Given the description of an element on the screen output the (x, y) to click on. 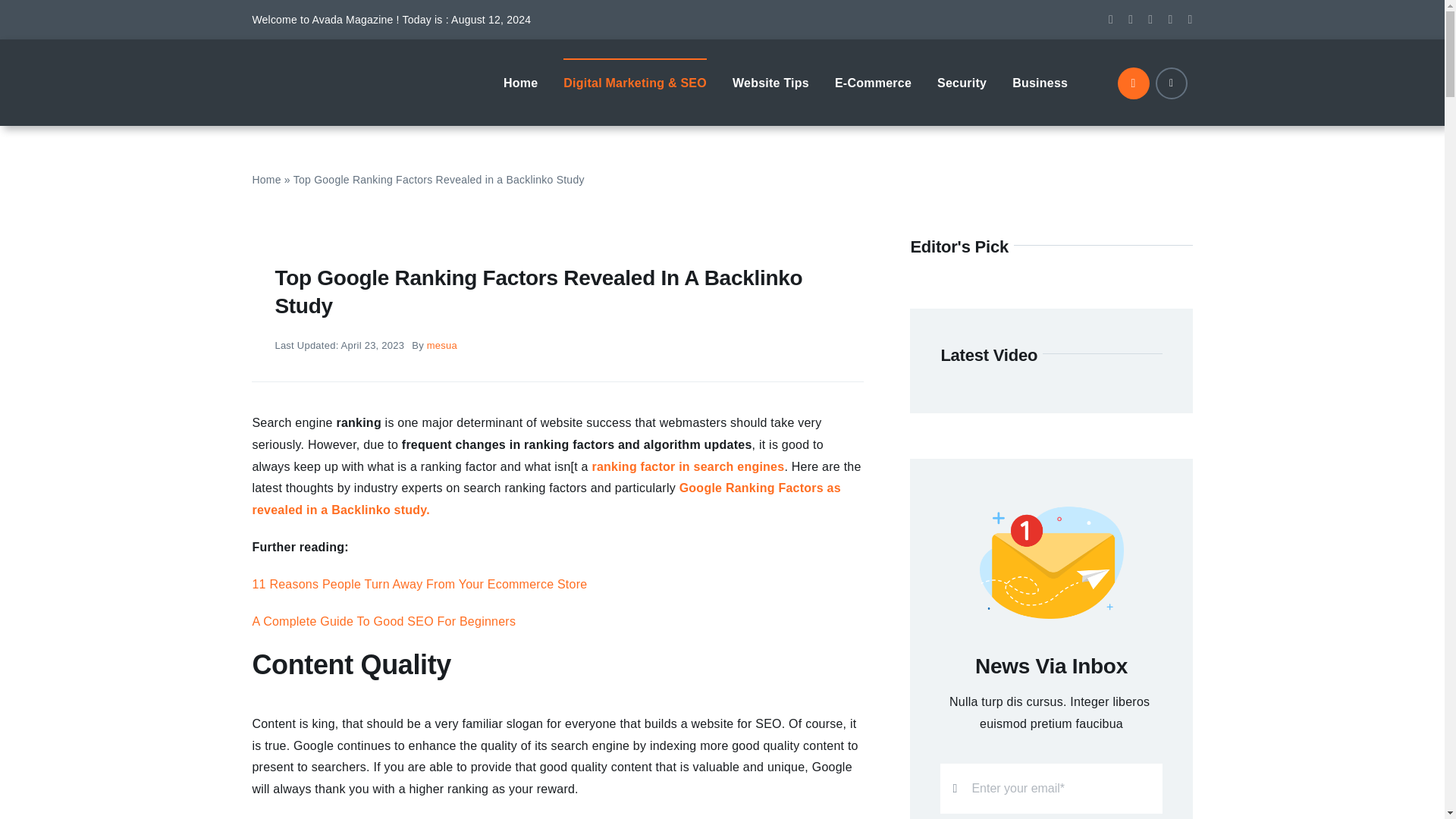
Home (266, 179)
Security (962, 82)
Business (1039, 82)
Google Ranking Factors as revealed in a Backlinko study. (545, 498)
Posts by mesua (441, 345)
E-Commerce (872, 82)
ranking factor in search engines (687, 466)
Website Tips (770, 82)
mesua (441, 345)
11 Reasons People Turn Away From Your Ecommerce Store (418, 584)
